Given the description of an element on the screen output the (x, y) to click on. 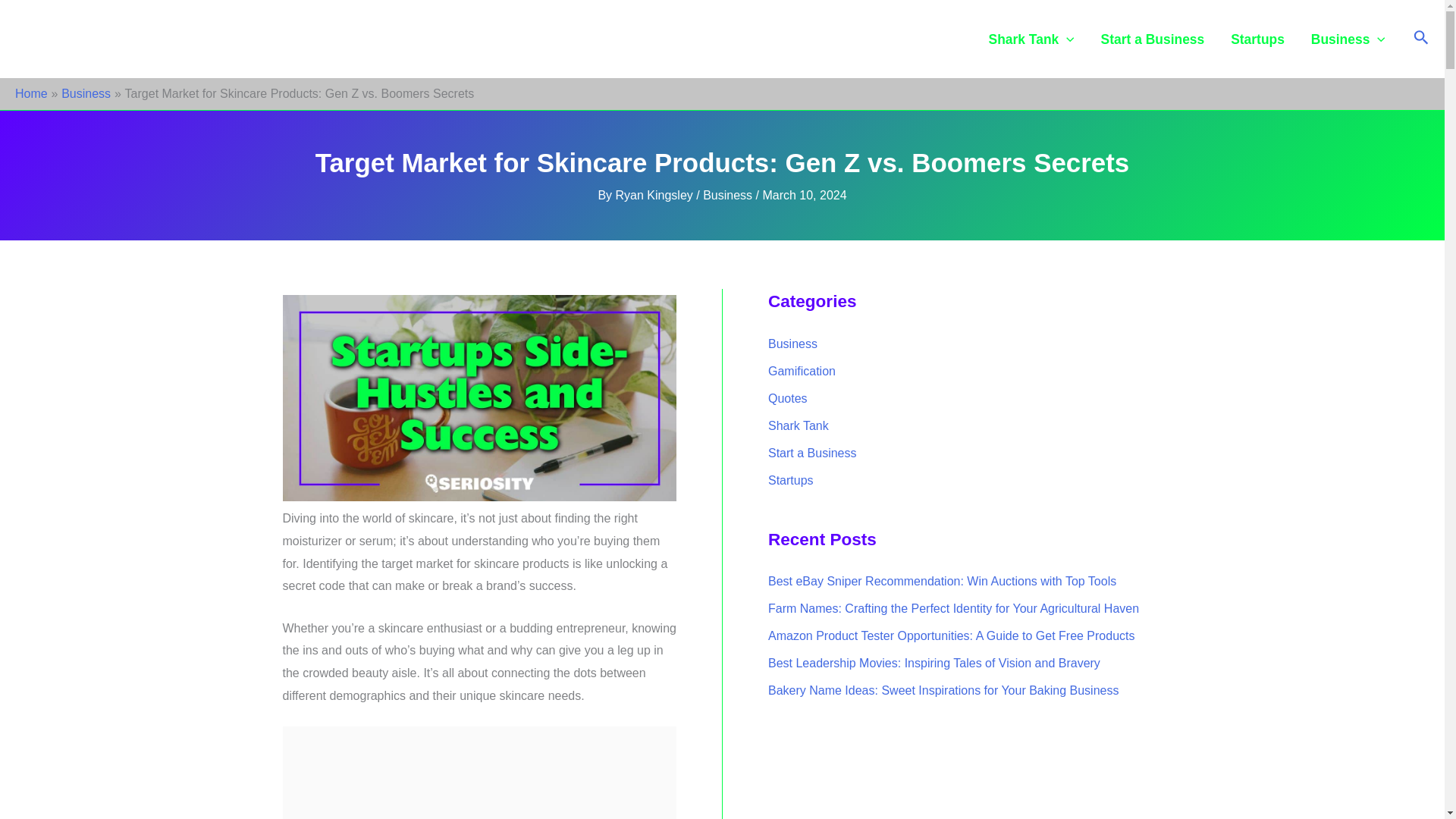
Ryan Kingsley (656, 195)
View all posts by Ryan Kingsley (656, 195)
Start a Business (1152, 38)
Startups (1257, 38)
Home (31, 92)
Shark Tank (1031, 38)
Business (85, 92)
Business (1347, 38)
Business (727, 195)
